Given the description of an element on the screen output the (x, y) to click on. 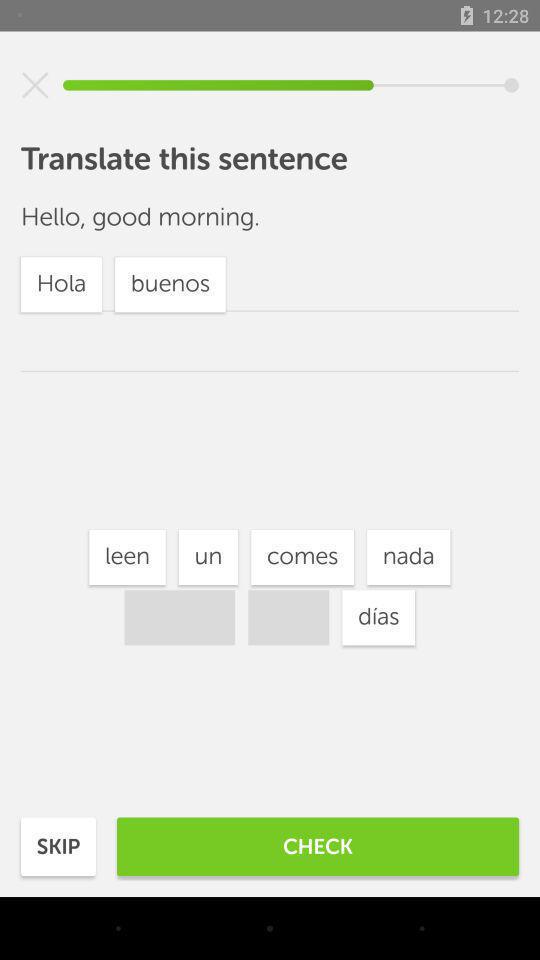
press the item below the comes (378, 617)
